Given the description of an element on the screen output the (x, y) to click on. 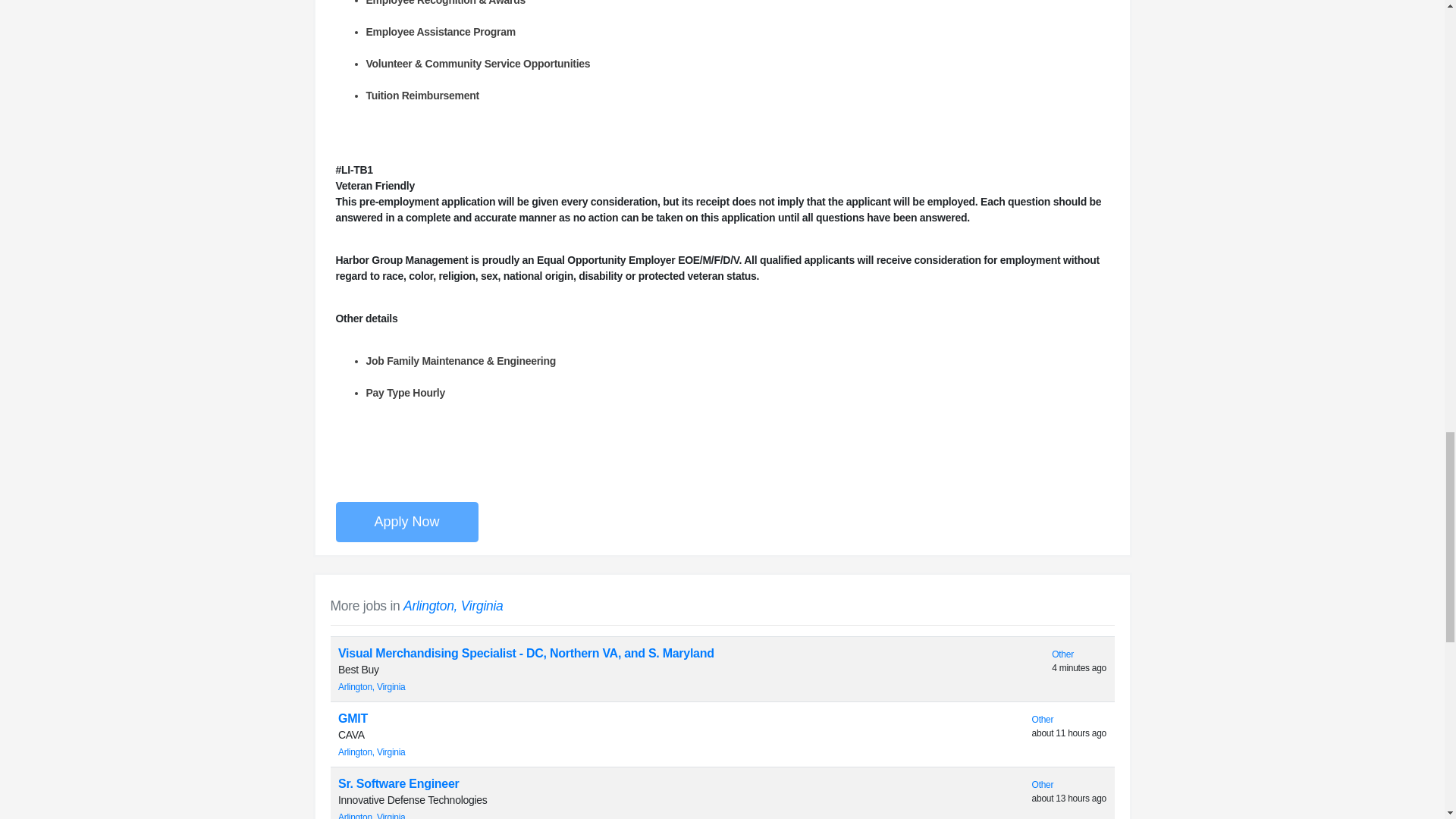
Arlington, Virginia (371, 815)
Arlington, Virginia (371, 751)
Apply Now (405, 522)
Other (1043, 784)
Sr. Software Engineer (398, 783)
Arlington, Virginia (371, 686)
Arlington, Virginia (453, 605)
Other (1043, 719)
GMIT (352, 717)
